Given the description of an element on the screen output the (x, y) to click on. 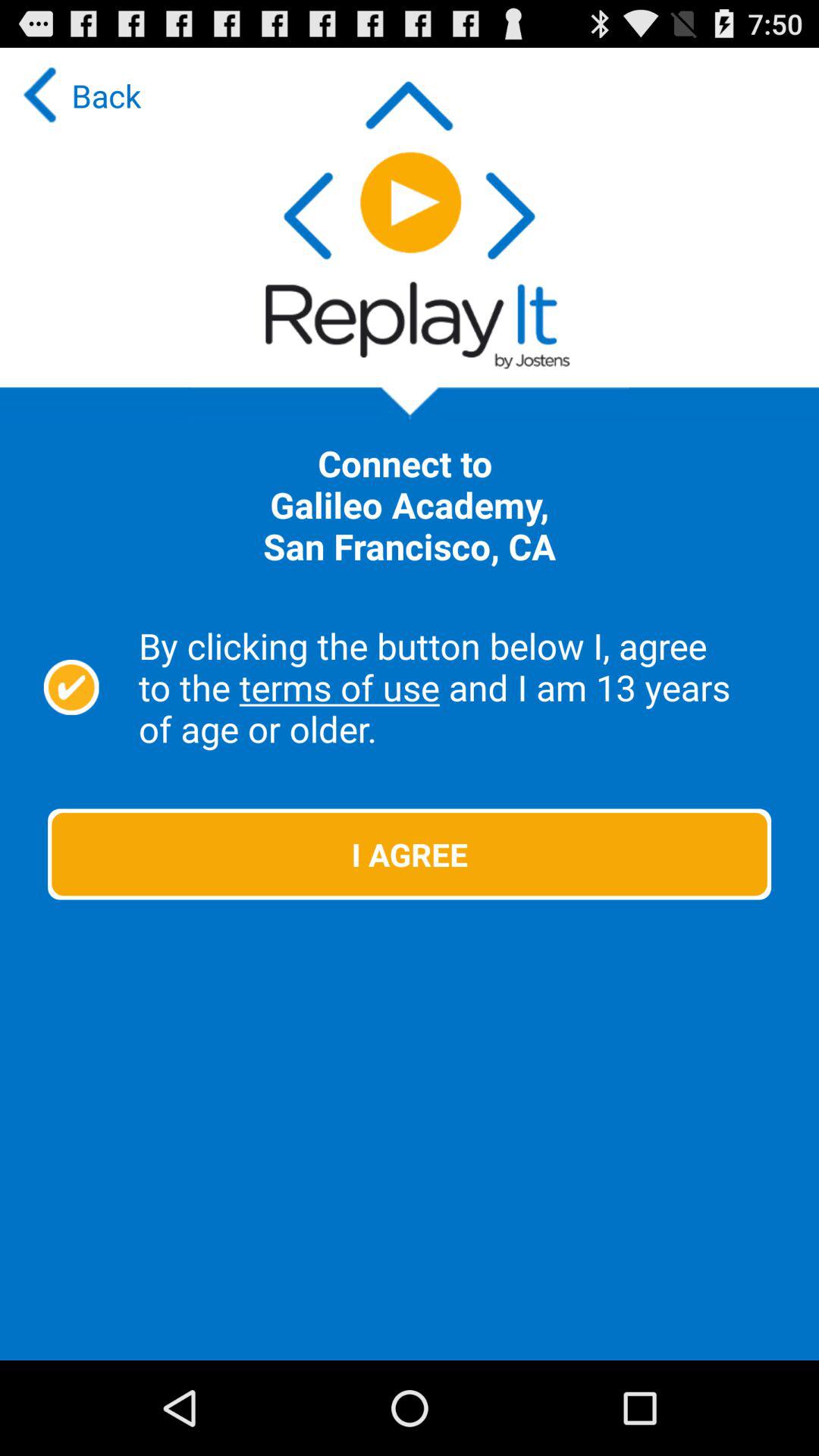
select the by clicking the (460, 687)
